Given the description of an element on the screen output the (x, y) to click on. 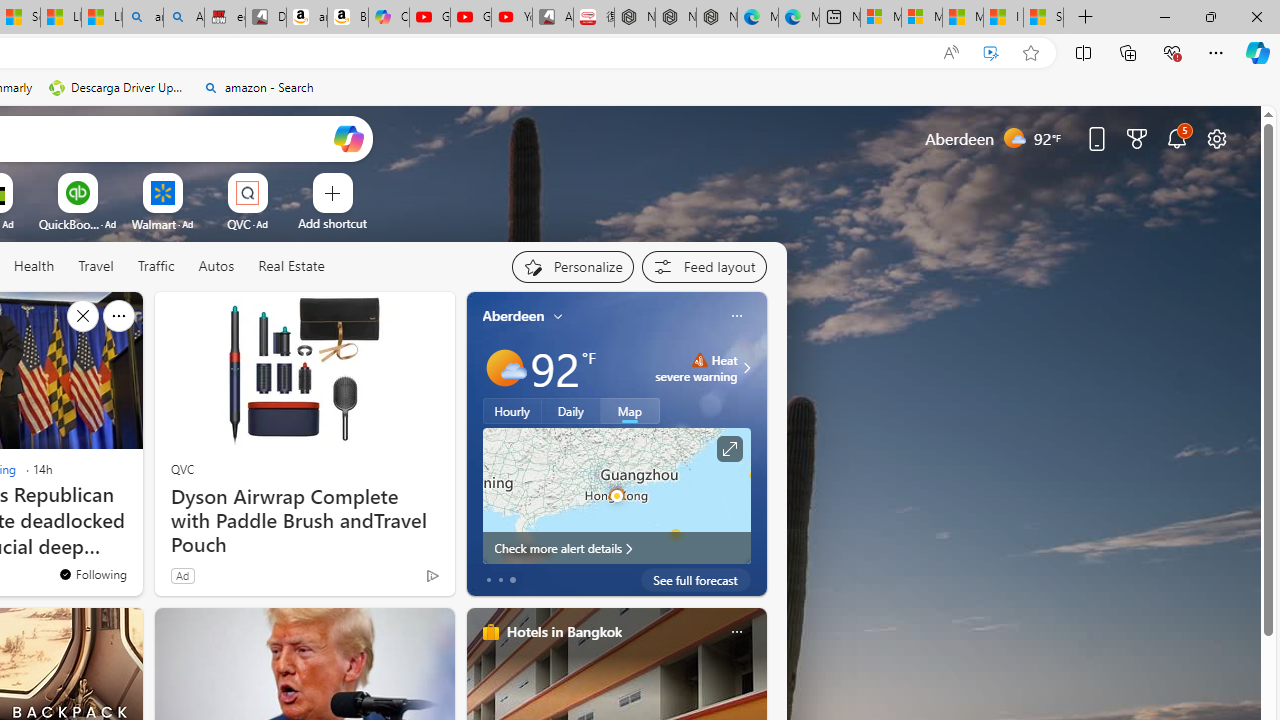
Microsoft rewards (1137, 138)
Notifications (1176, 138)
Open Copilot (347, 138)
My location (558, 315)
Traffic (155, 265)
Larger map  (616, 495)
Ad Choice (432, 575)
Feed settings (703, 266)
Microsoft Start (963, 17)
Hourly (511, 411)
Traffic (155, 267)
